Given the description of an element on the screen output the (x, y) to click on. 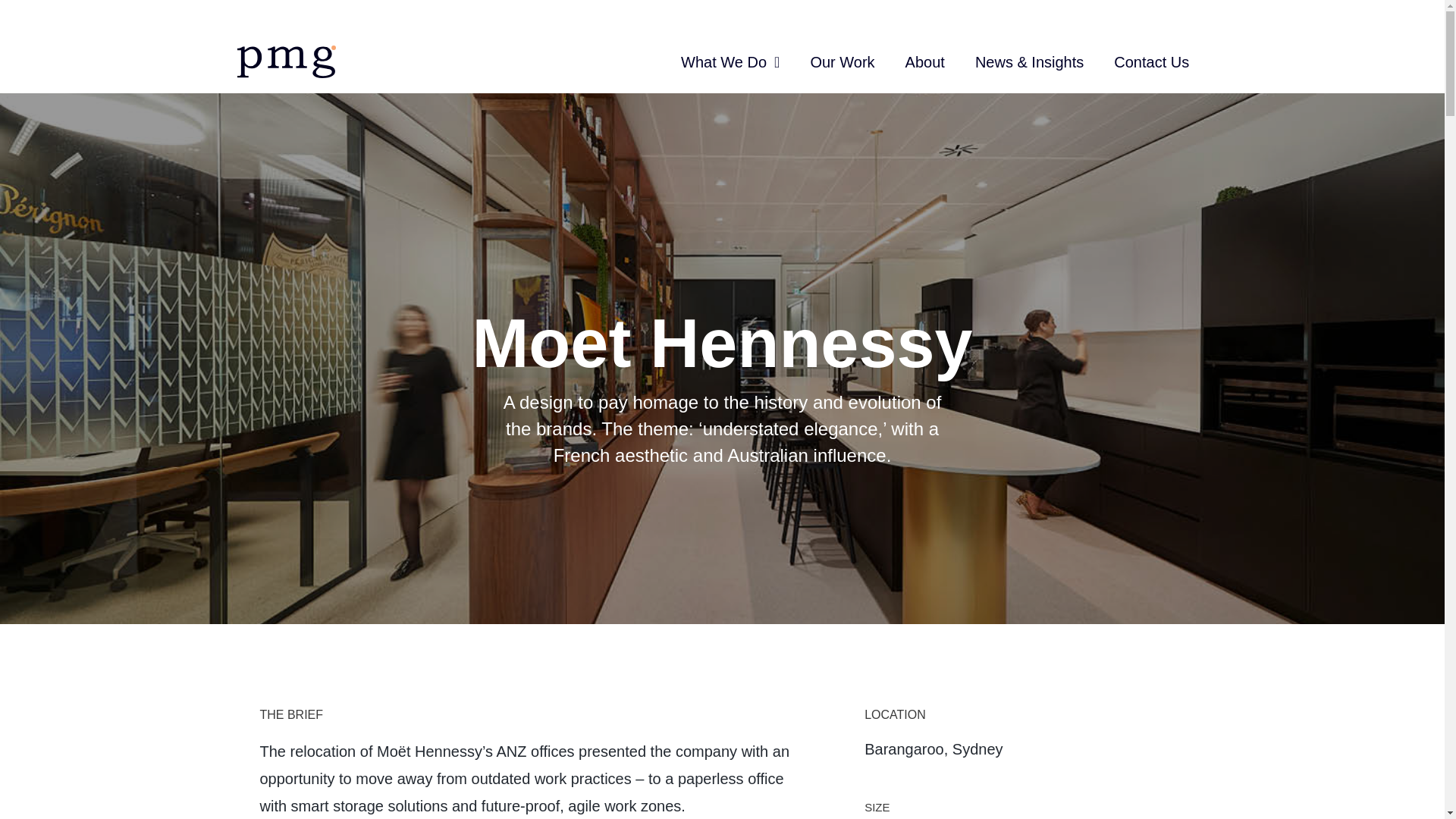
Contact Us (1151, 14)
About (924, 9)
Our Work (841, 6)
